Given the description of an element on the screen output the (x, y) to click on. 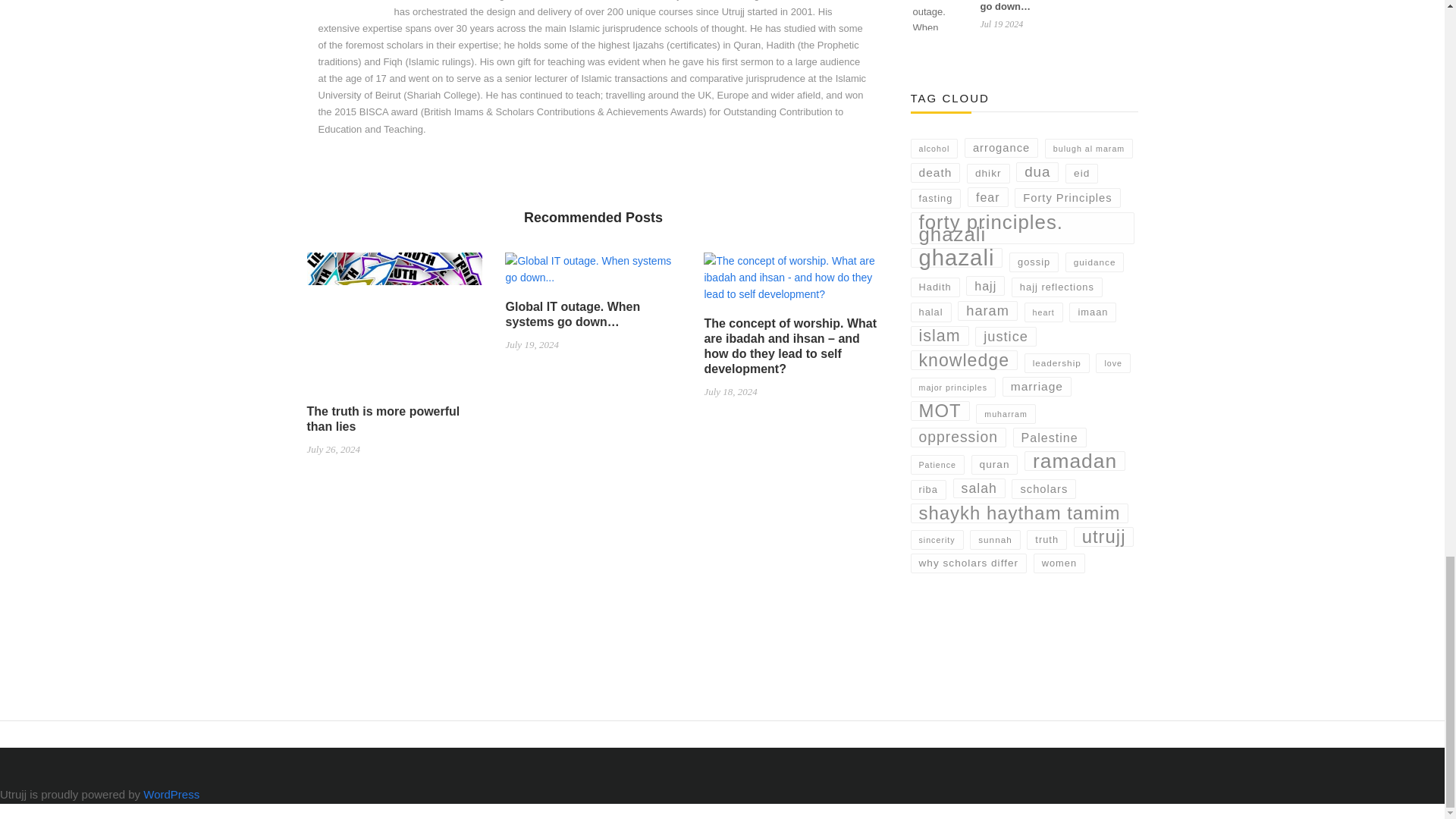
Global IT outage. When systems go down... (593, 275)
The truth is more powerful than lies (393, 327)
